Given the description of an element on the screen output the (x, y) to click on. 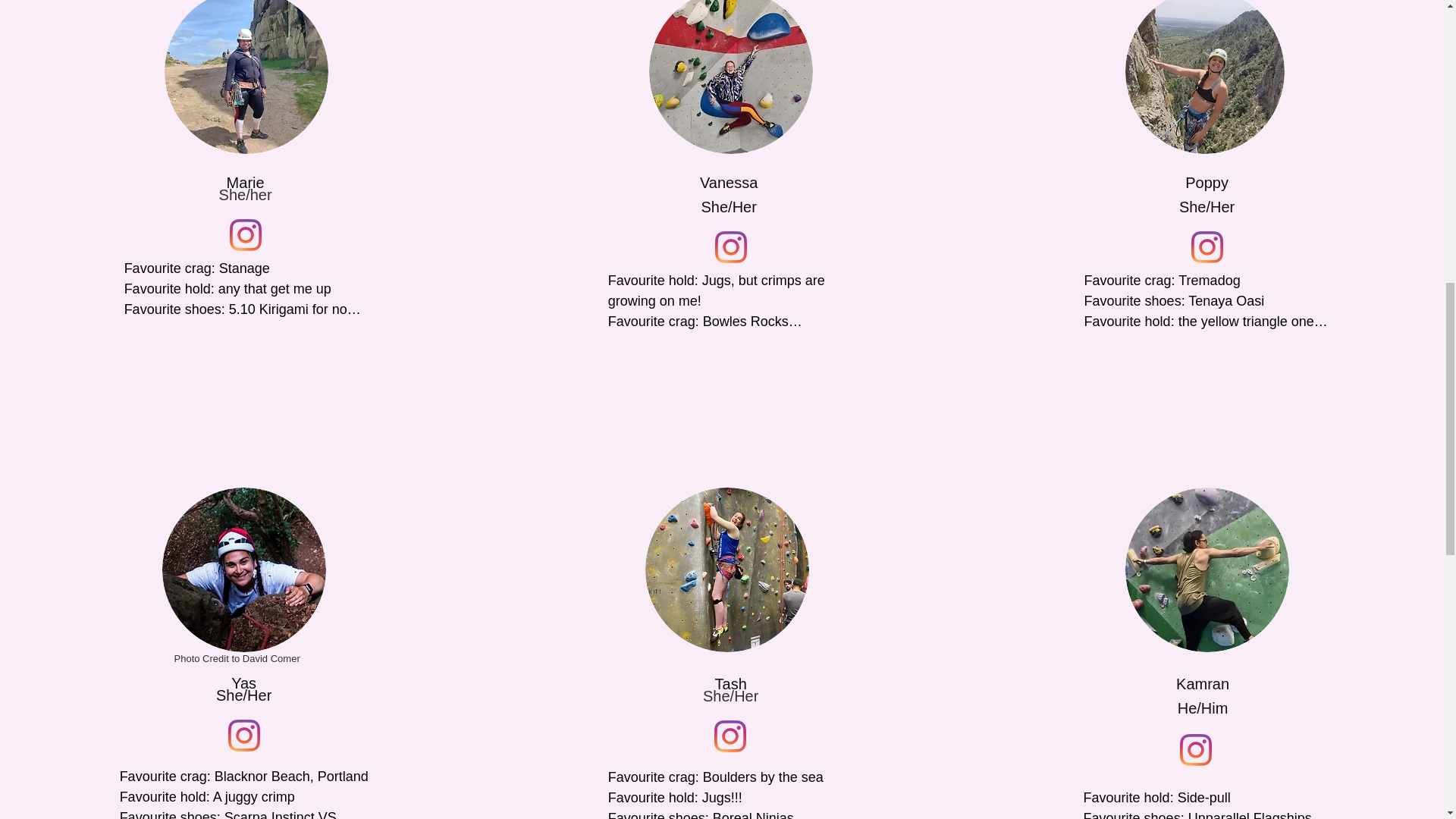
Credit to David Comer. (243, 569)
